Given the description of an element on the screen output the (x, y) to click on. 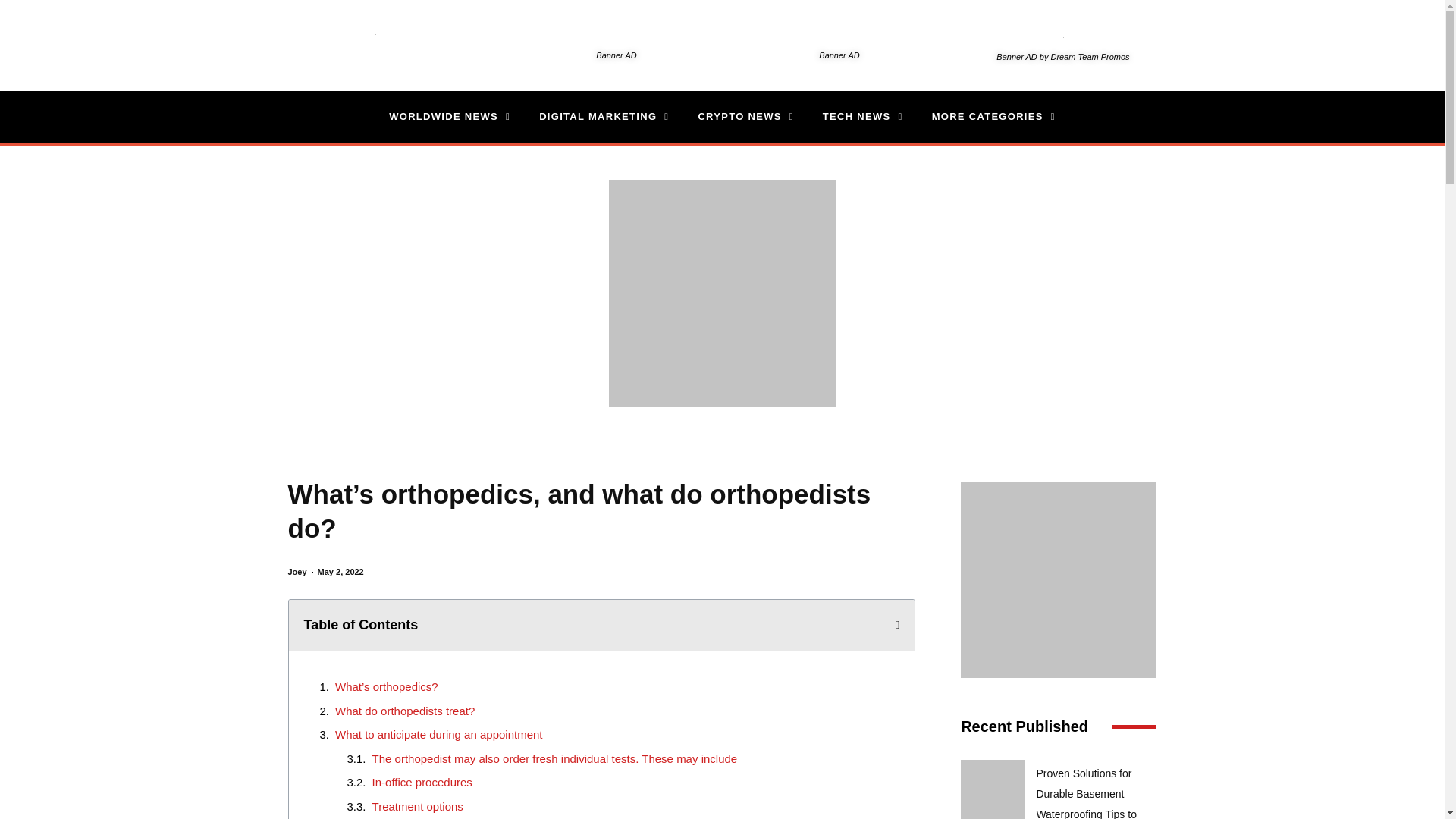
TECH NEWS (862, 116)
DIGITAL MARKETING (603, 116)
WORLDWIDE NEWS (449, 116)
CRYPTO NEWS (745, 116)
